Given the description of an element on the screen output the (x, y) to click on. 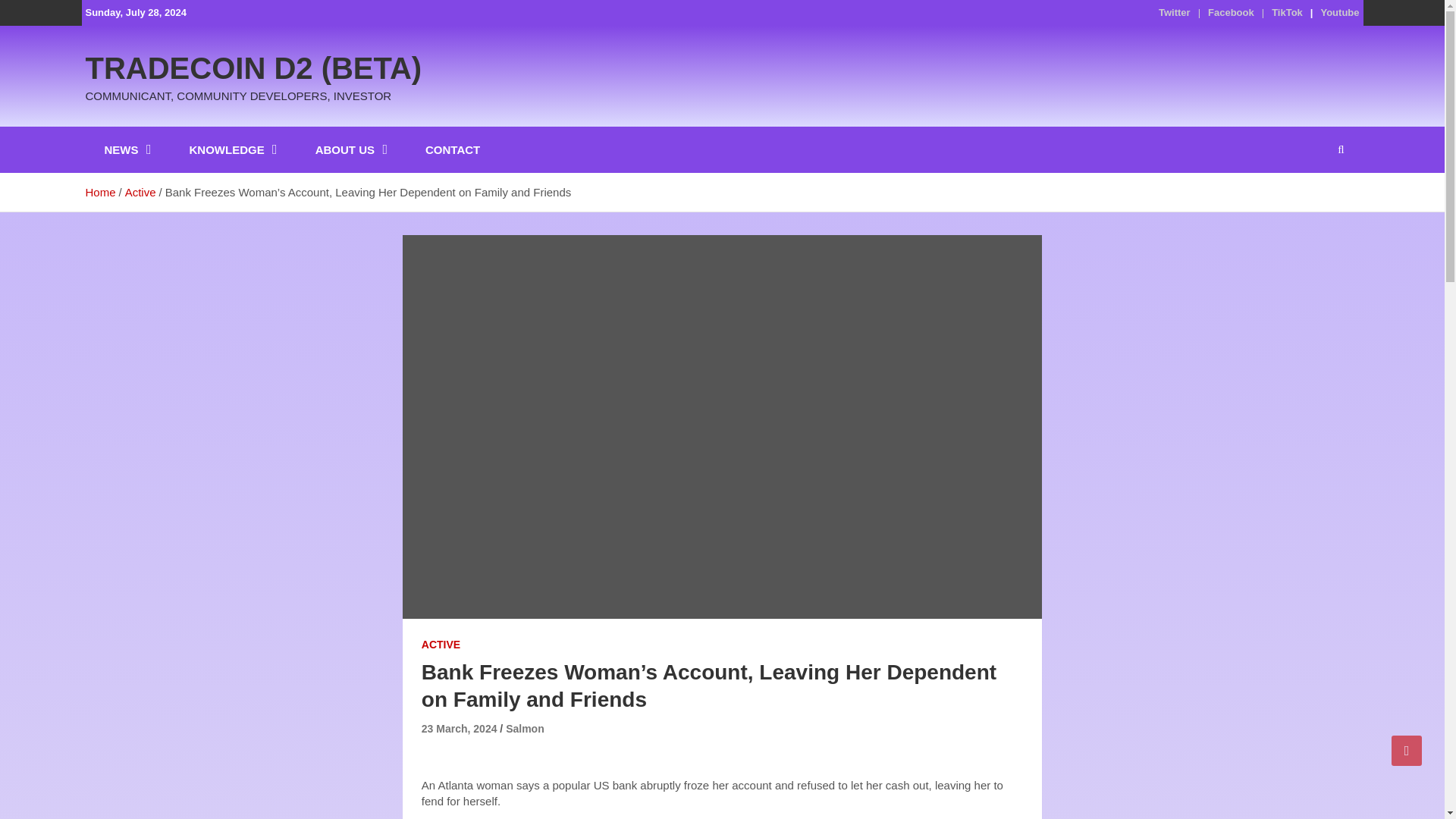
Active (140, 192)
23 March, 2024 (459, 728)
Facebook (1230, 12)
Home (99, 192)
Salmon (524, 728)
KNOWLEDGE (233, 149)
Go to Top (1406, 750)
NEWS (127, 149)
TikTok (1287, 12)
ACTIVE (441, 645)
ABOUT US (351, 149)
Youtube (1339, 12)
CONTACT (452, 149)
Twitter (1174, 12)
